Given the description of an element on the screen output the (x, y) to click on. 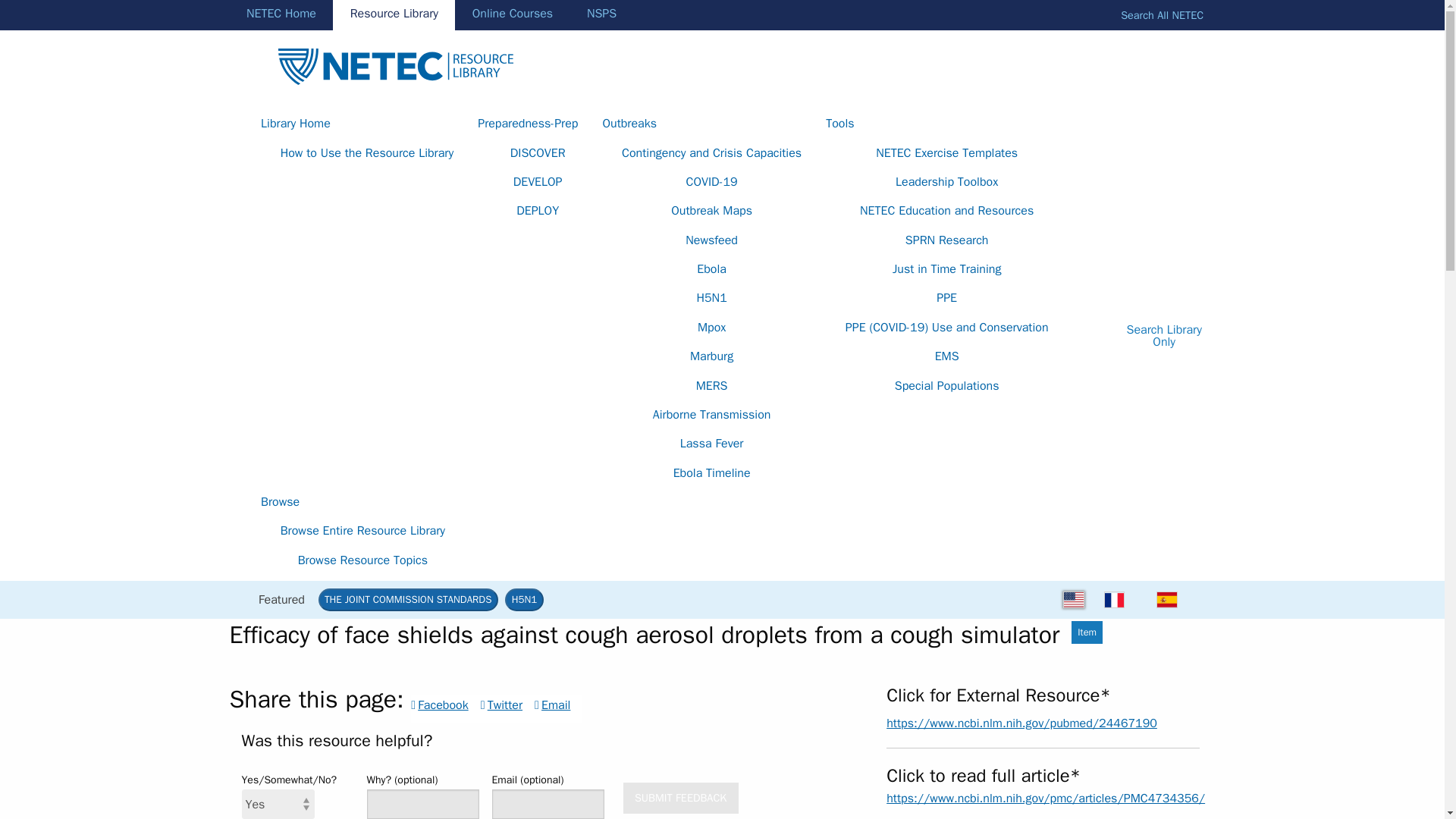
Search All NETEC (1159, 15)
NETEC Home (281, 15)
Submit Feedback (680, 798)
Logo (395, 64)
Online Courses (513, 15)
Spanish (1166, 599)
French (1114, 599)
NSPS (602, 15)
Resource Library (393, 15)
